Given the description of an element on the screen output the (x, y) to click on. 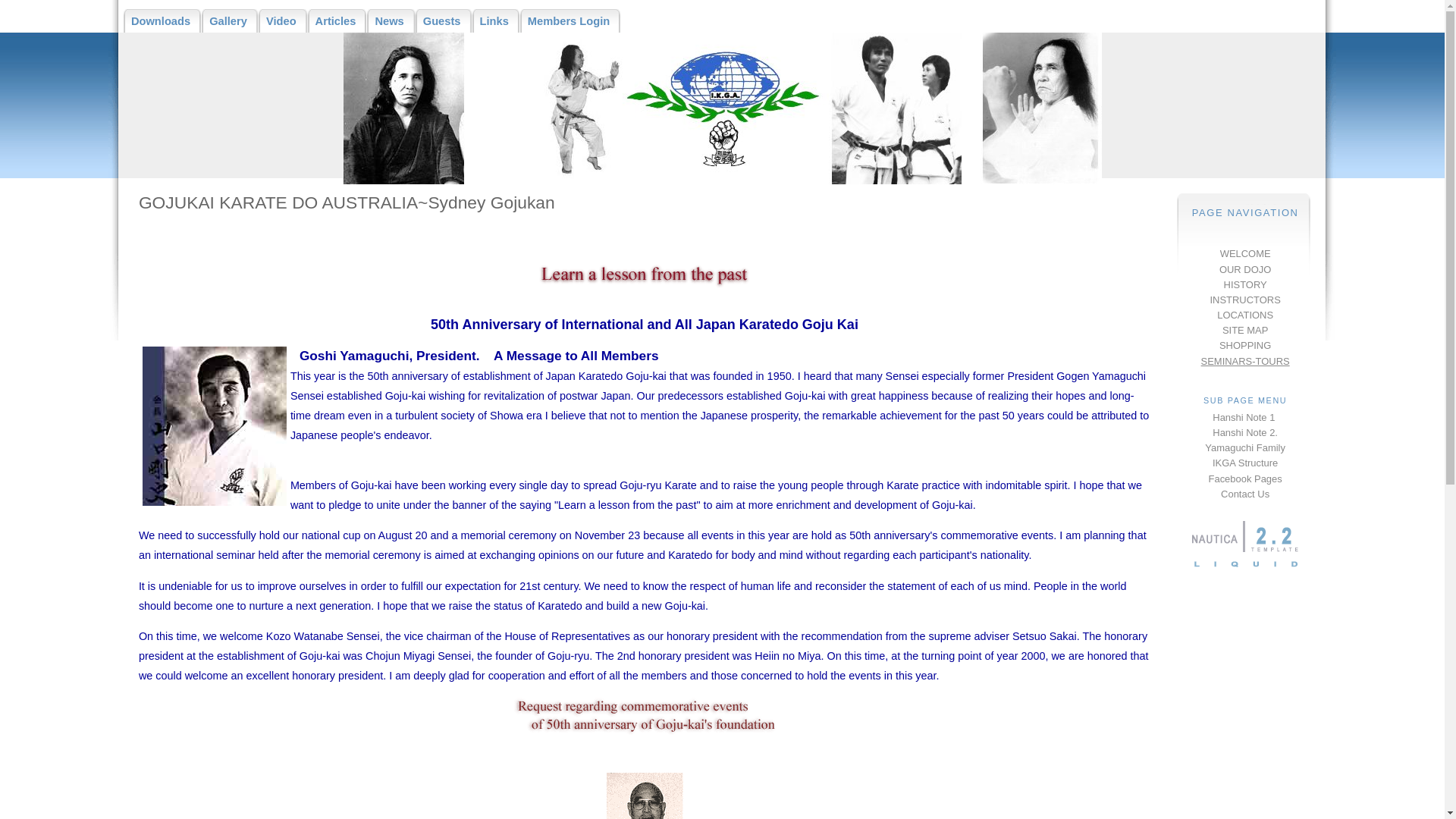
Facebook Pages Element type: text (1245, 478)
Yamaguchi Family Element type: text (1244, 447)
Video Element type: text (282, 20)
News Element type: text (390, 20)
SEMINARS-TOURS Element type: text (1245, 360)
Guests Element type: text (443, 20)
INSTRUCTORS Element type: text (1244, 299)
Gallery Element type: text (229, 20)
HISTORY Element type: text (1245, 284)
Articles Element type: text (337, 20)
Downloads Element type: text (162, 20)
WELCOME Element type: text (1245, 253)
Links Element type: text (495, 20)
LOCATIONS Element type: text (1245, 314)
Hanshi Note 1  Element type: text (1244, 417)
SHOPPING Element type: text (1244, 345)
SITE MAP Element type: text (1244, 329)
IKGA Structure Element type: text (1244, 462)
Members Login Element type: text (570, 20)
Hanshi Note 2. Element type: text (1244, 432)
OUR DOJO Element type: text (1244, 269)
Contact Us Element type: text (1244, 493)
